Given the description of an element on the screen output the (x, y) to click on. 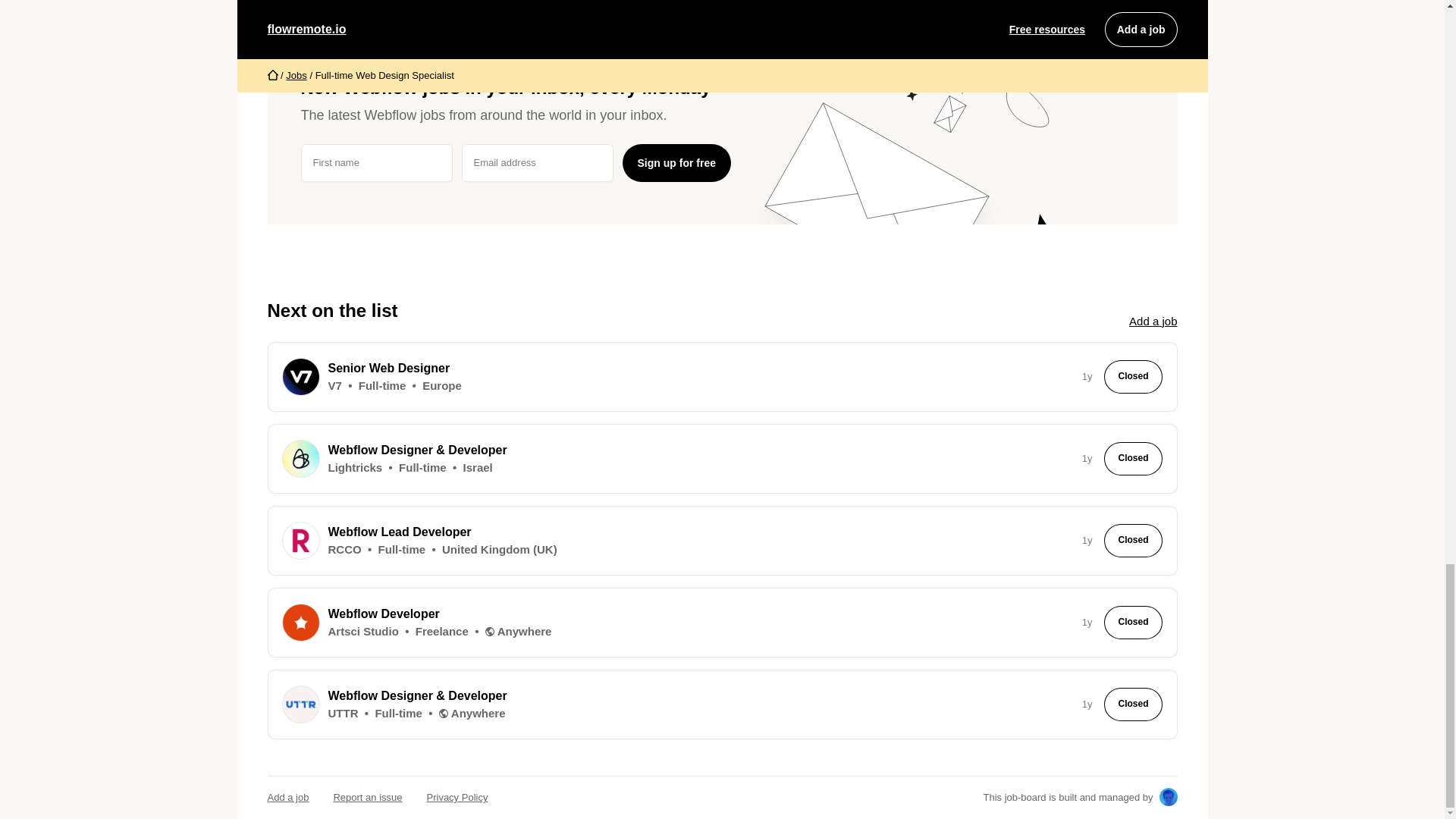
Add a job (1152, 320)
Sign up for free (675, 162)
Sign up for free (675, 162)
